Given the description of an element on the screen output the (x, y) to click on. 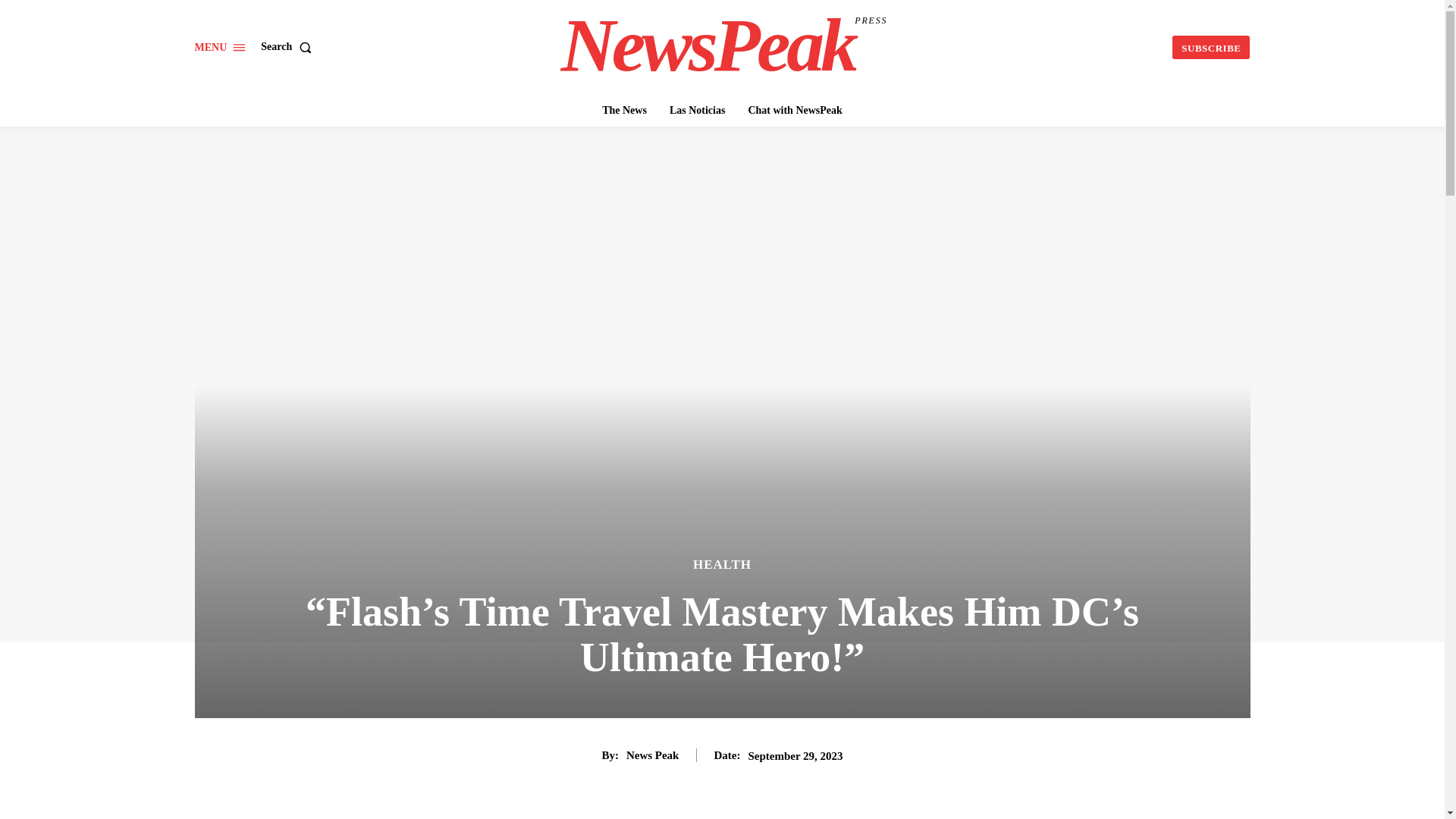
SUBSCRIBE (1210, 47)
Search (288, 47)
MENU (219, 47)
Subscribe (1210, 47)
The News (623, 110)
Menu (723, 45)
